Given the description of an element on the screen output the (x, y) to click on. 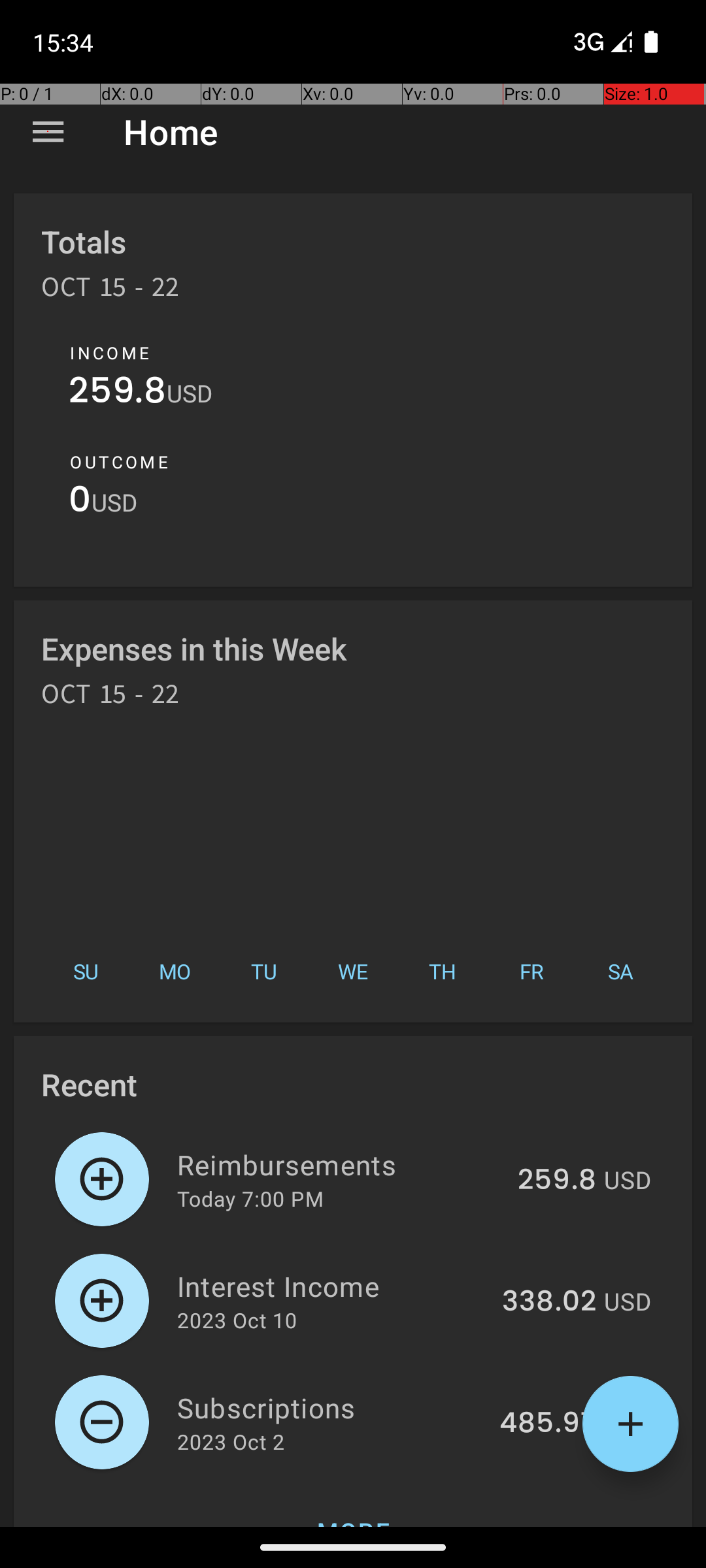
259.8 Element type: android.widget.TextView (117, 393)
338.02 Element type: android.widget.TextView (548, 1301)
2023 Oct 2 Element type: android.widget.TextView (230, 1441)
485.97 Element type: android.widget.TextView (547, 1423)
